Given the description of an element on the screen output the (x, y) to click on. 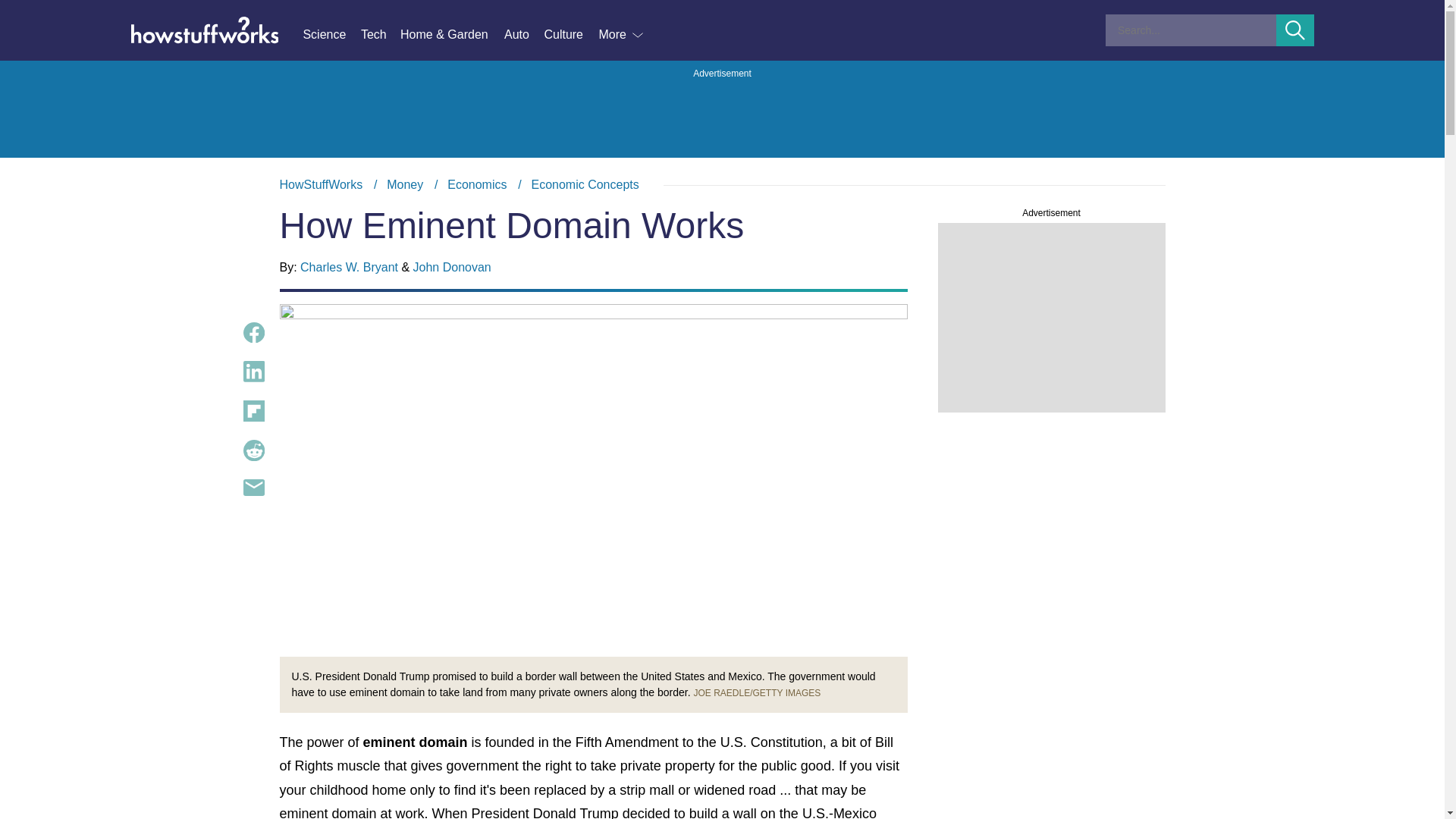
Share Content via Email (253, 487)
Auto (523, 34)
Charles W. Bryant (348, 267)
Share Content on Flipboard (721, 185)
Science (253, 410)
Share Content on Reddit (330, 34)
HowStuffWorks (253, 450)
Tech (320, 184)
Share Content on Facebook (380, 34)
Share Content on LinkedIn (253, 332)
Economics (253, 371)
Submit Search (476, 184)
Economic Concepts (1295, 29)
Money (585, 184)
